Given the description of an element on the screen output the (x, y) to click on. 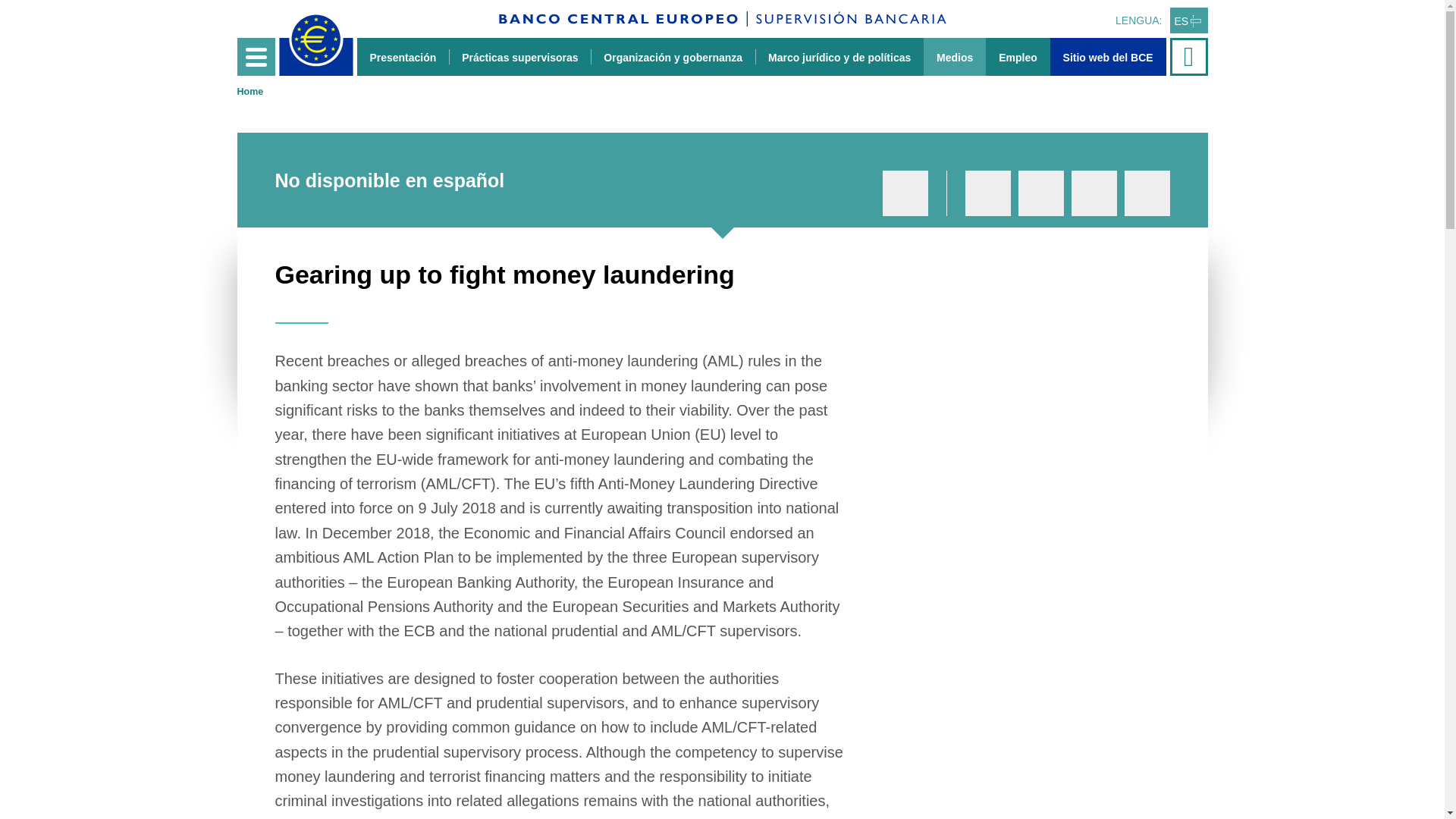
Menu (255, 56)
Empleo (1017, 56)
Medios (954, 56)
Home (249, 91)
Sitio web del BCE (1107, 56)
Search (1190, 56)
